Given the description of an element on the screen output the (x, y) to click on. 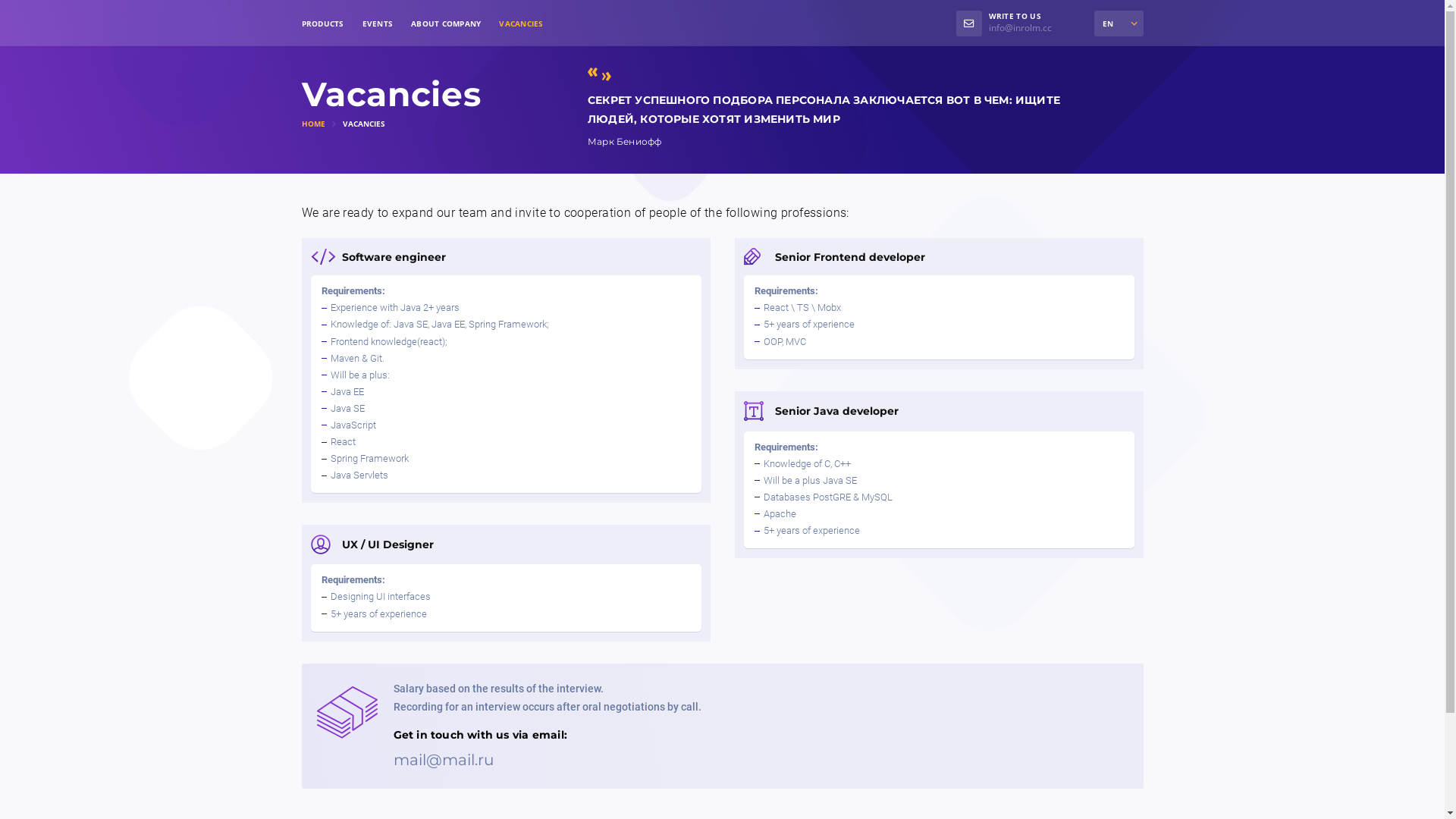
ABOUT COMPANY Element type: text (445, 23)
PRODUCTS Element type: text (322, 23)
info@inrolm.cc Element type: text (1019, 27)
EVENTS Element type: text (377, 23)
VACANCIES Element type: text (520, 23)
mail@mail.ru Element type: text (442, 759)
HOME Element type: text (314, 123)
